Given the description of an element on the screen output the (x, y) to click on. 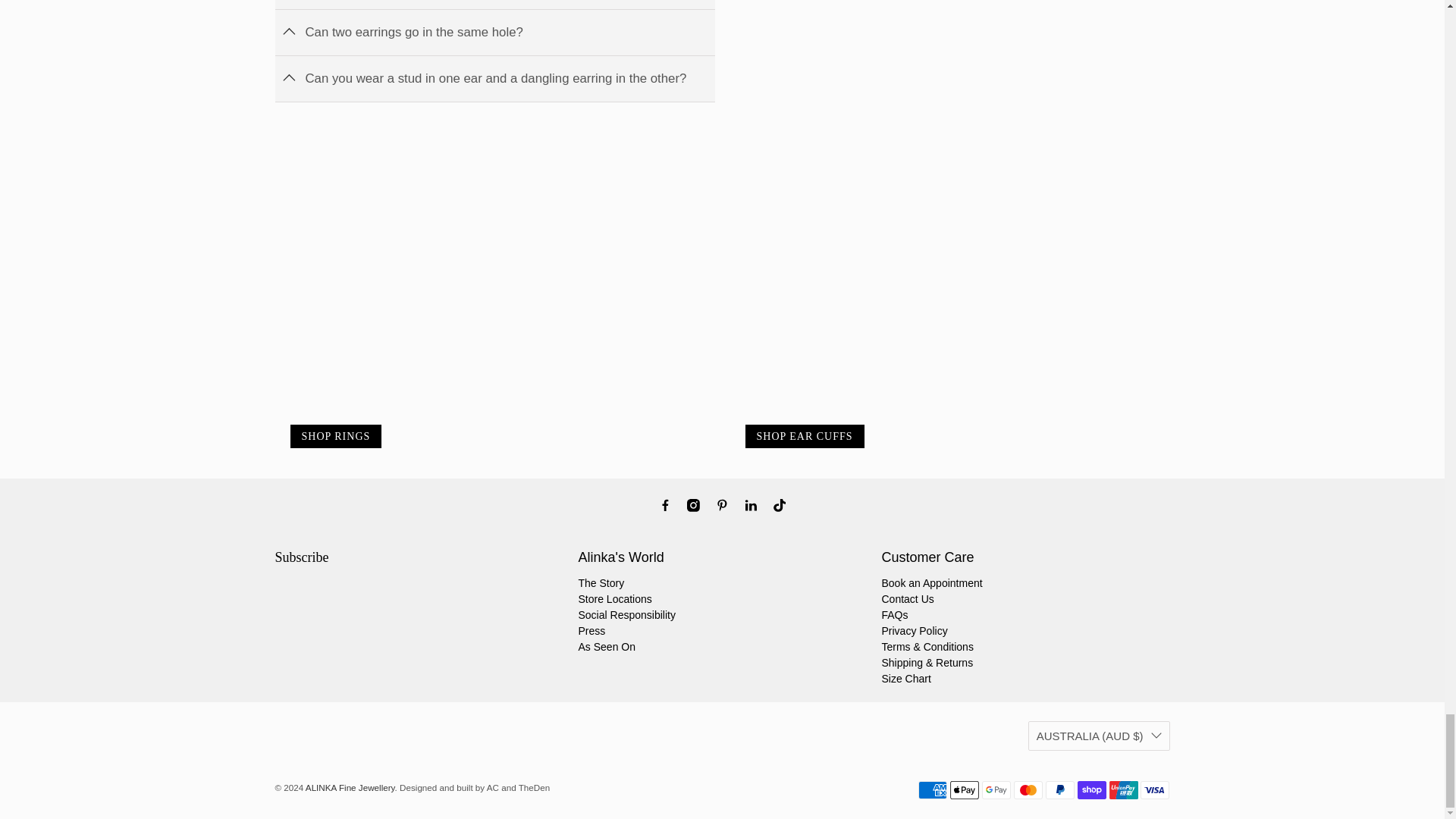
American Express (932, 790)
Google Pay (995, 790)
PayPal (1059, 790)
Apple Pay (964, 790)
Mastercard (1027, 790)
